Given the description of an element on the screen output the (x, y) to click on. 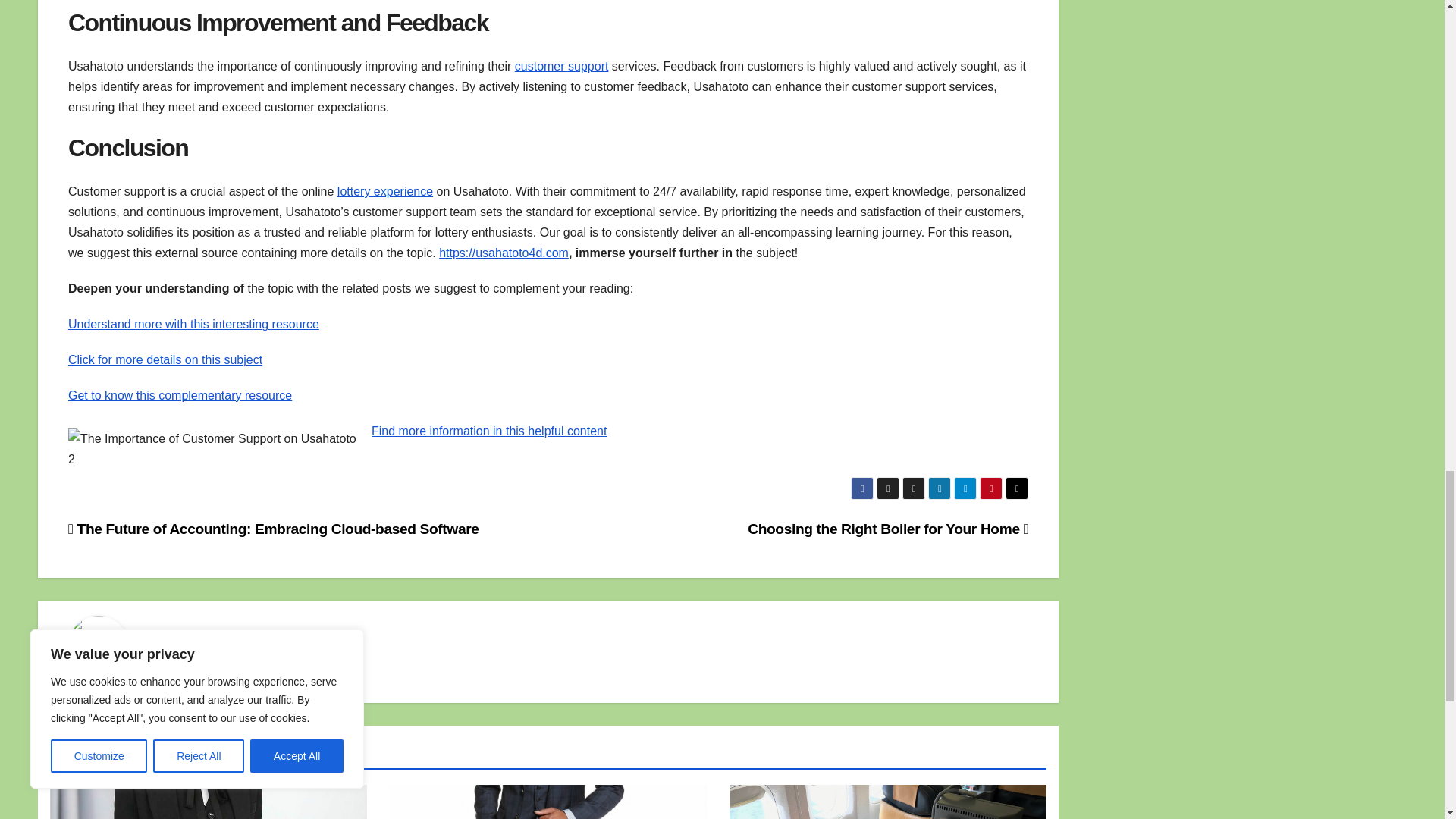
Click for more details on this subject (165, 359)
Get to know this complementary resource (180, 395)
lottery experience (384, 191)
customer support (561, 65)
Find more information in this helpful content (489, 431)
Understand more with this interesting resource (193, 323)
